Given the description of an element on the screen output the (x, y) to click on. 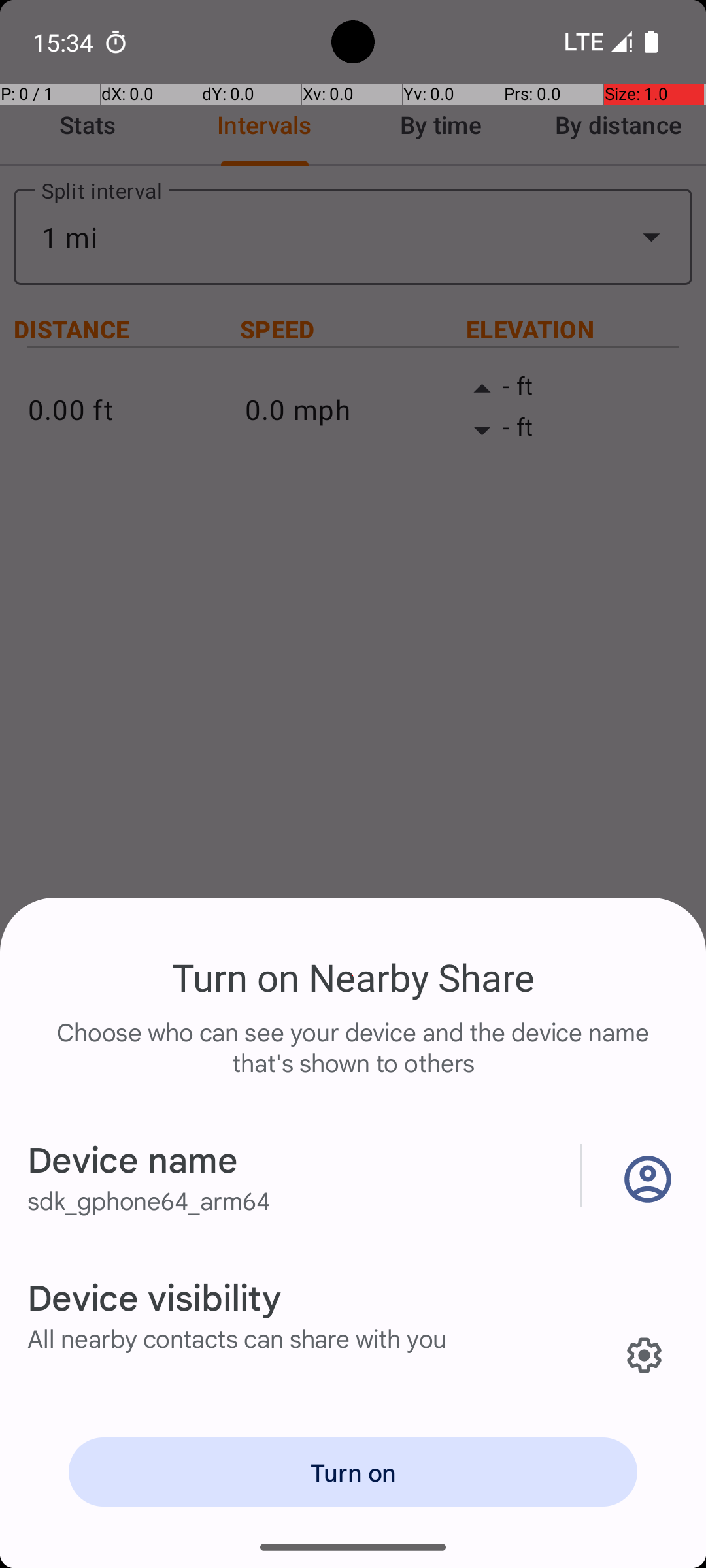
Turn on Nearby Share Element type: android.widget.TextView (353, 976)
Choose who can see your device and the device name that's shown to others Element type: android.widget.TextView (353, 1060)
No account found Element type: android.widget.FrameLayout (644, 1175)
Turn on Element type: android.widget.Button (352, 1471)
All nearby contacts can share with you Element type: android.widget.TextView (237, 1338)
